Given the description of an element on the screen output the (x, y) to click on. 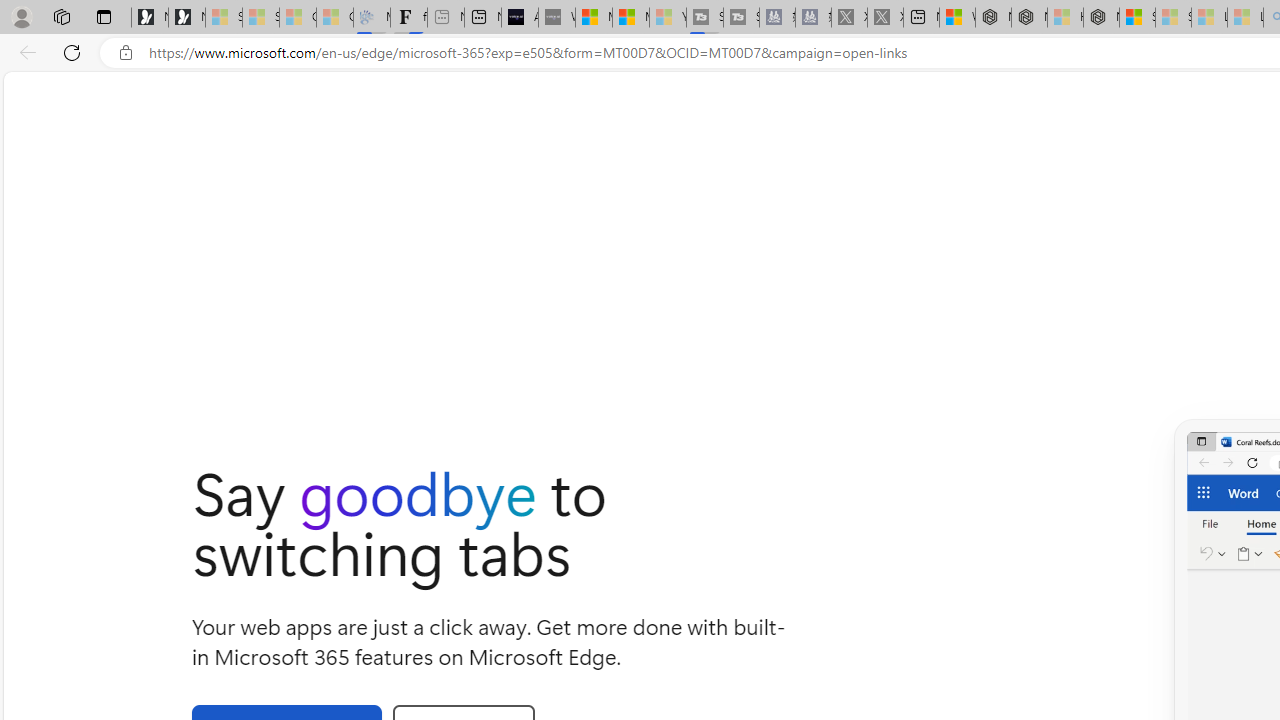
Nordace - Nordace Siena Is Not An Ordinary Backpack (1101, 17)
Newsletter Sign Up (186, 17)
AI Voice Changer for PC and Mac - Voice.ai (519, 17)
View site information (125, 53)
Wildlife - MSN (957, 17)
Workspaces (61, 16)
New tab (921, 17)
Tab actions menu (104, 16)
Refresh (72, 52)
Microsoft Start (630, 17)
